Given the description of an element on the screen output the (x, y) to click on. 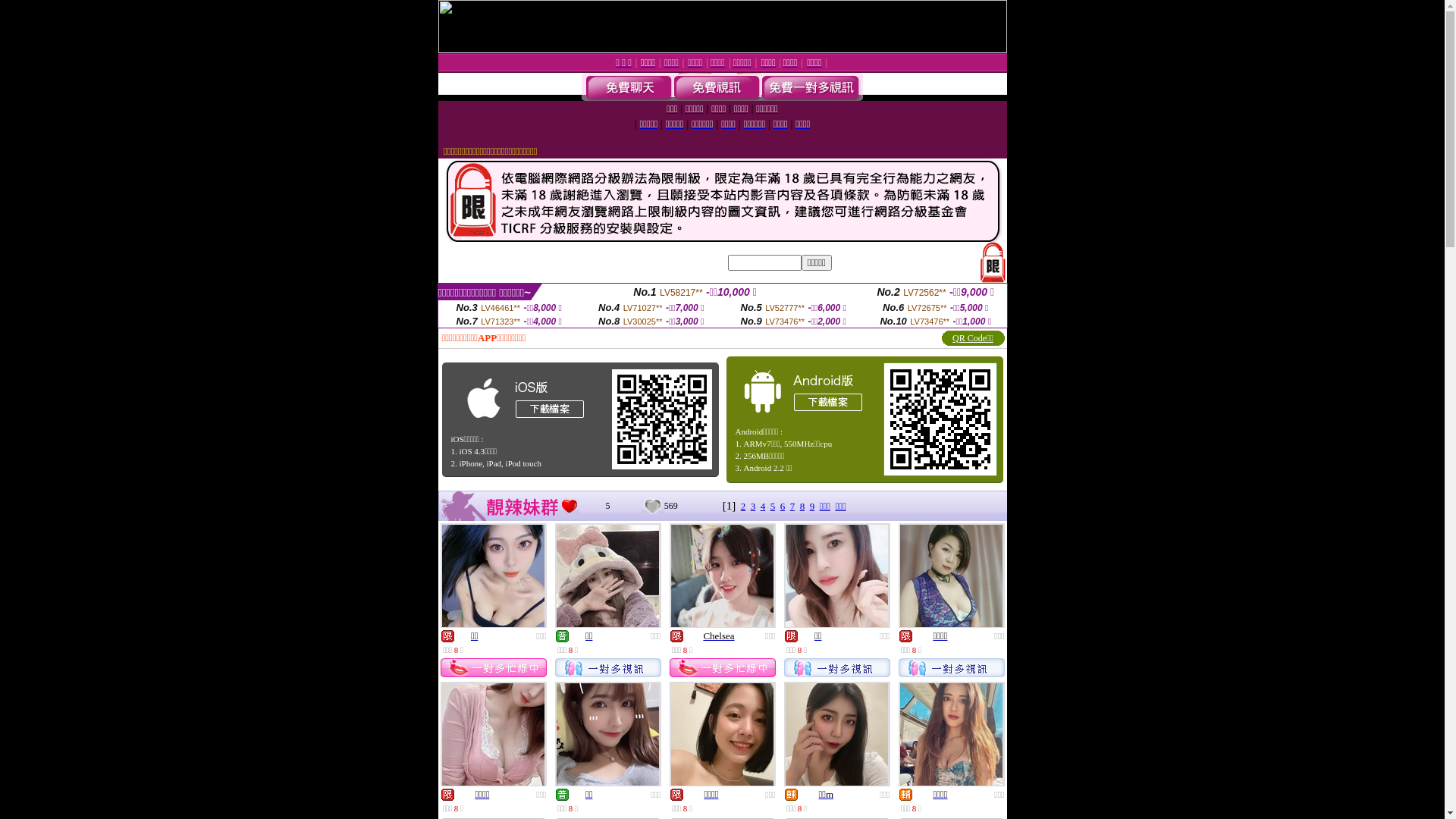
3 Element type: text (753, 505)
8 Element type: text (802, 505)
5 Element type: text (772, 505)
6 Element type: text (782, 505)
7 Element type: text (792, 505)
9 Element type: text (812, 505)
Chelsea Element type: text (718, 635)
2 Element type: text (743, 505)
4 Element type: text (762, 505)
